Given the description of an element on the screen output the (x, y) to click on. 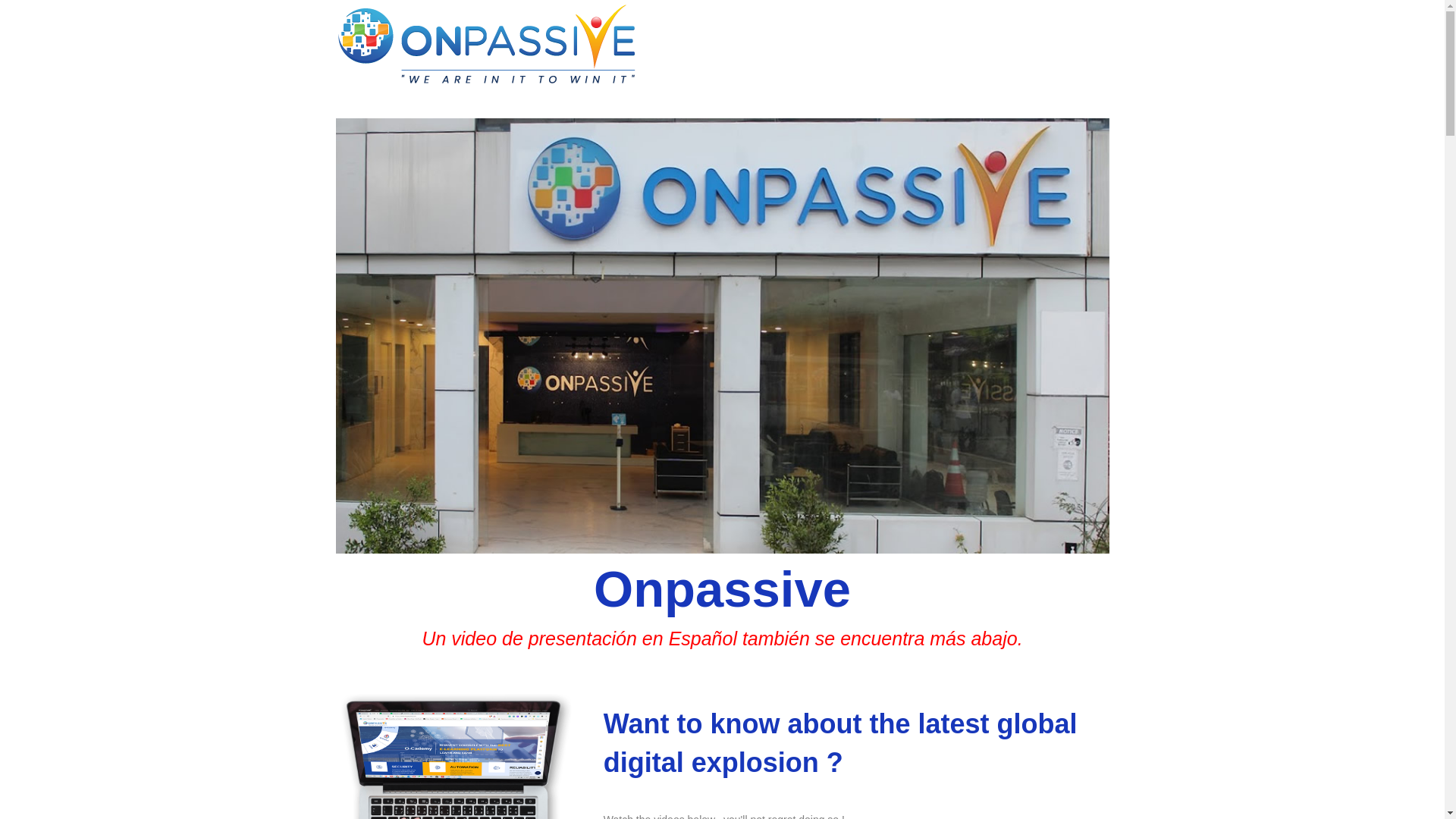
PC (453, 754)
